Given the description of an element on the screen output the (x, y) to click on. 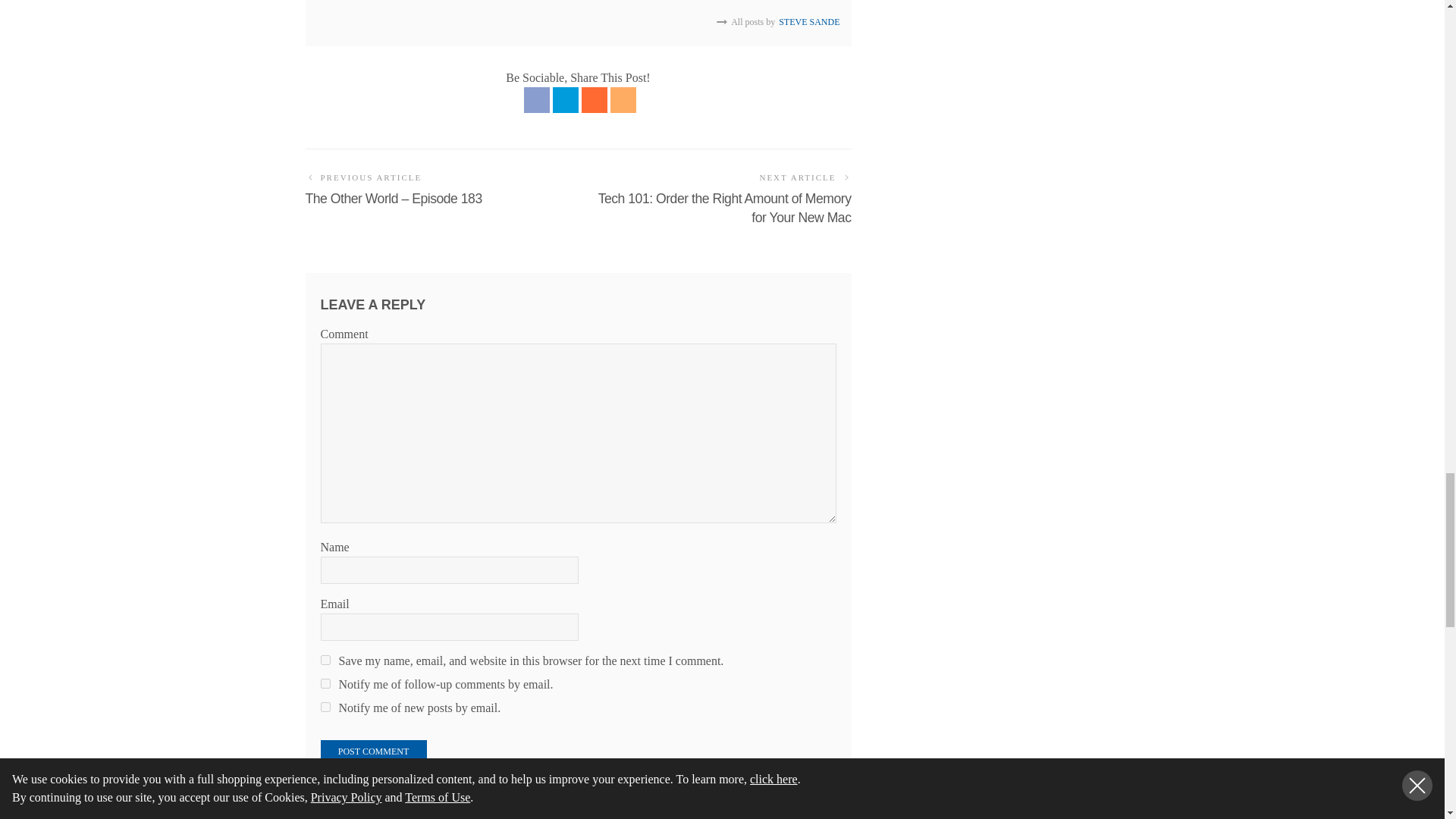
subscribe (325, 706)
subscribe (325, 683)
Post Comment (373, 751)
yes (325, 660)
